Given the description of an element on the screen output the (x, y) to click on. 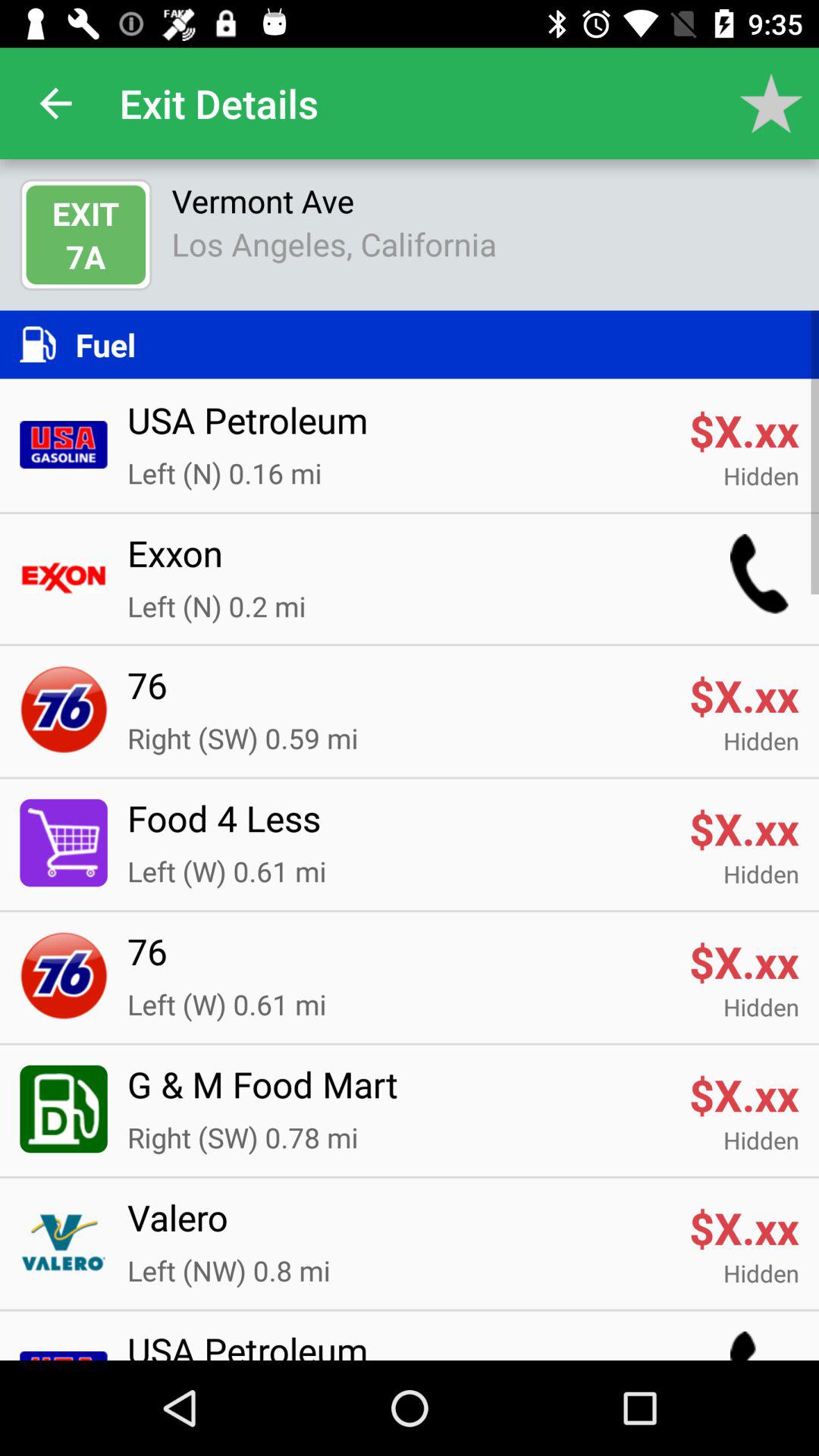
turn on the food 4 less item (398, 827)
